Given the description of an element on the screen output the (x, y) to click on. 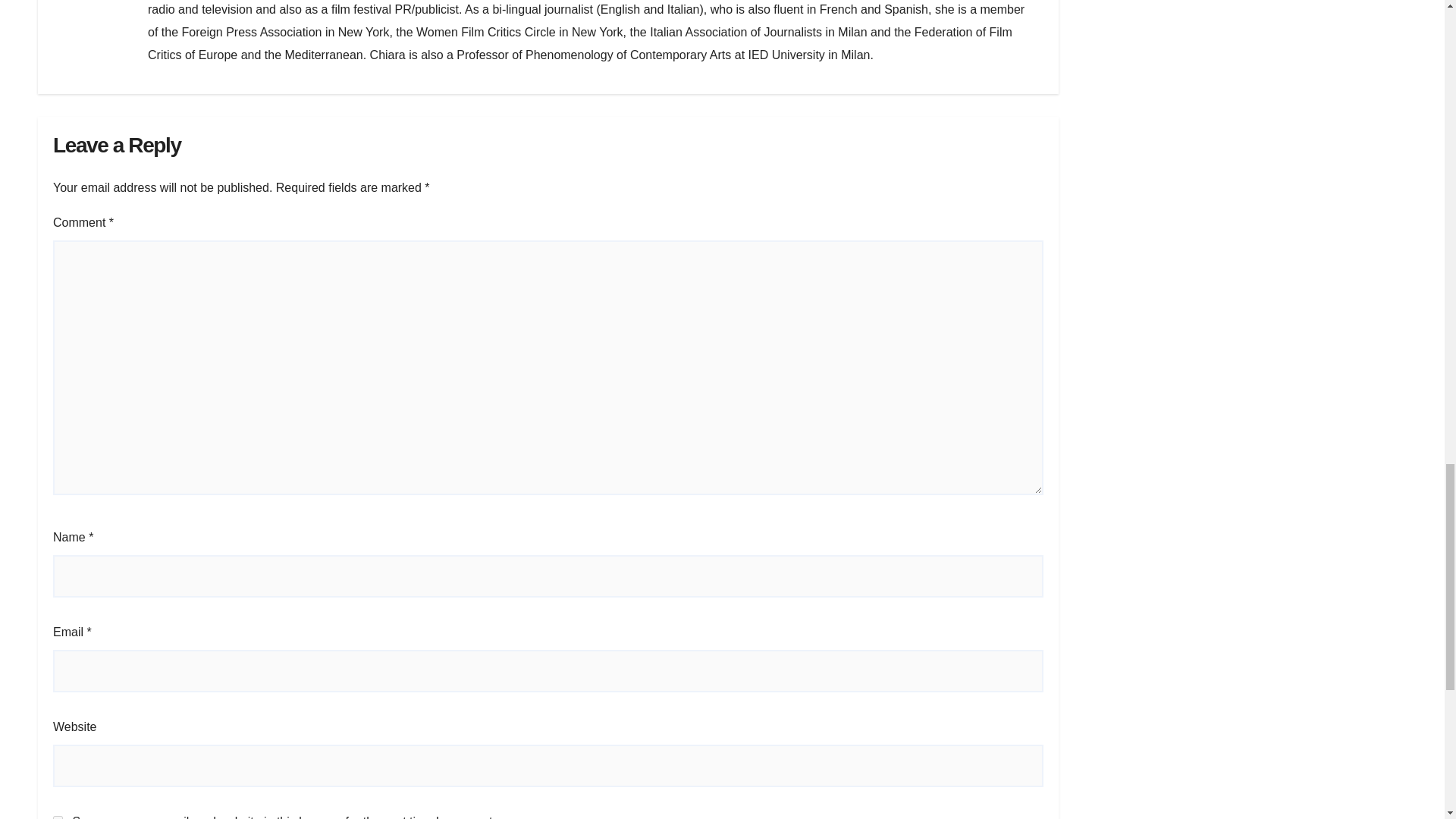
yes (57, 817)
